Given the description of an element on the screen output the (x, y) to click on. 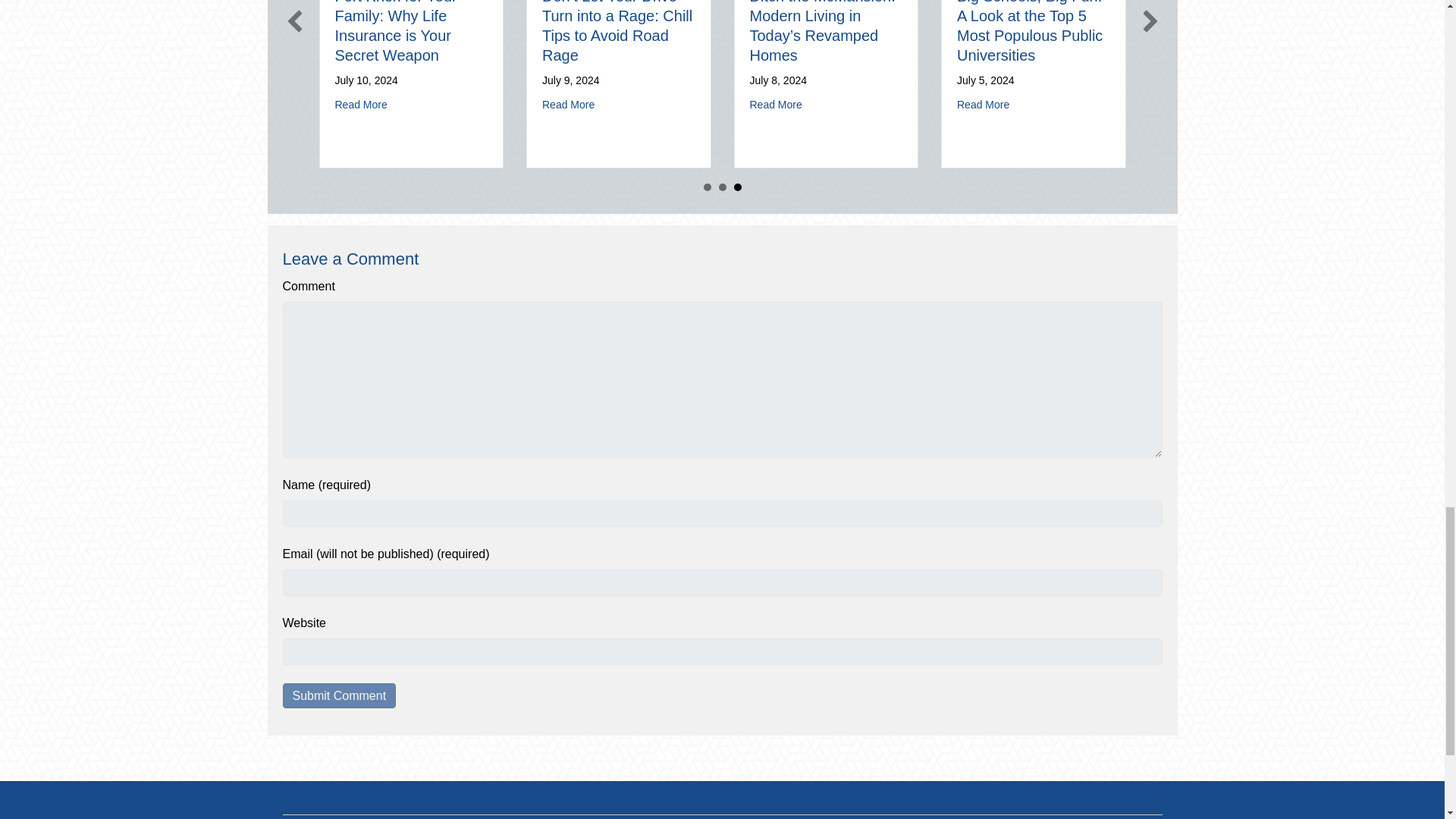
Submit Comment (339, 695)
